Given the description of an element on the screen output the (x, y) to click on. 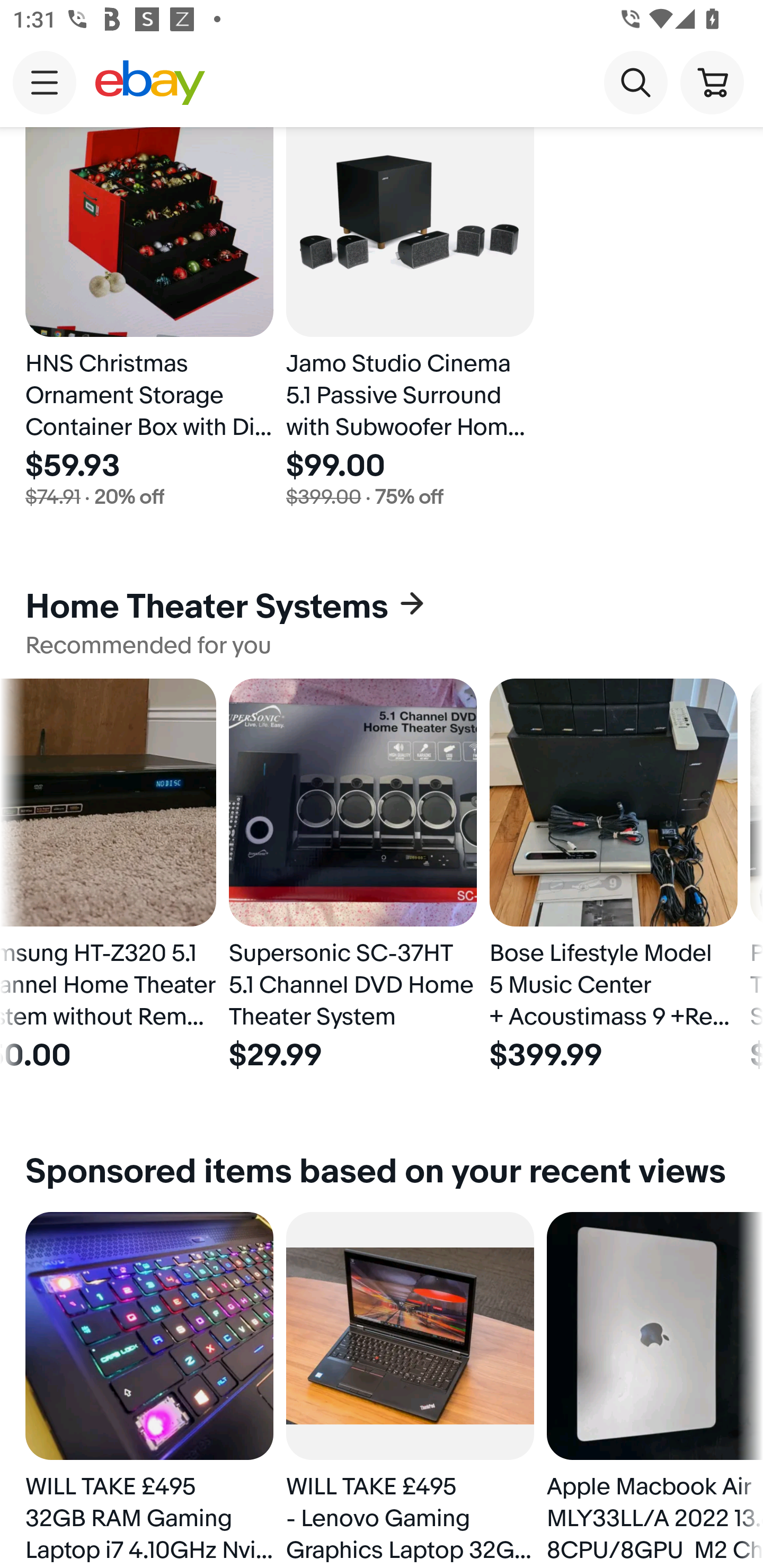
Main navigation, open (44, 82)
Search (635, 81)
Cart button shopping cart (711, 81)
Home Theater Systems   Recommended for you (381, 622)
Sponsored items based on your recent views (381, 1172)
